Given the description of an element on the screen output the (x, y) to click on. 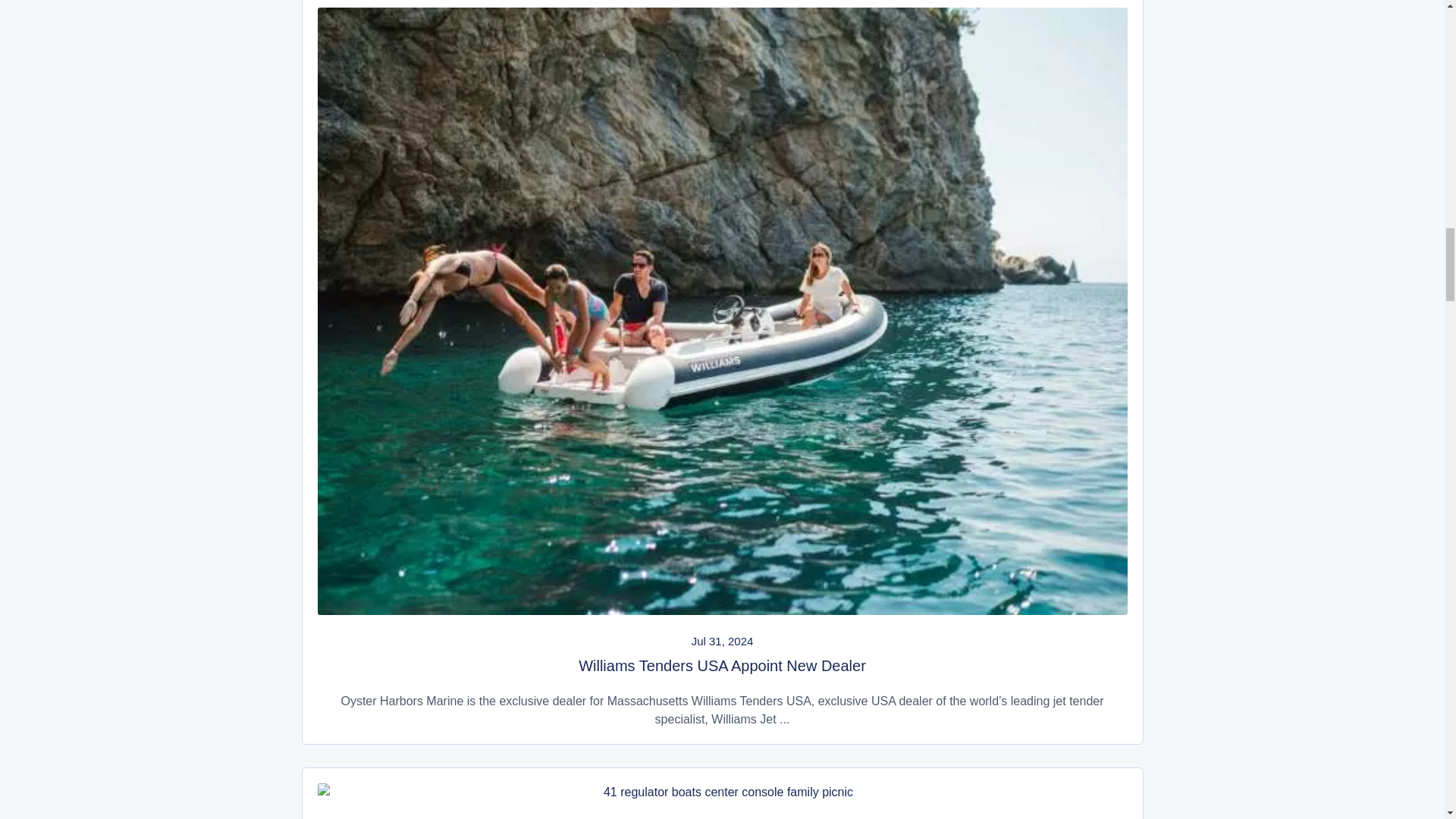
Williams Tenders USA Appoint New Dealer (722, 665)
